Given the description of an element on the screen output the (x, y) to click on. 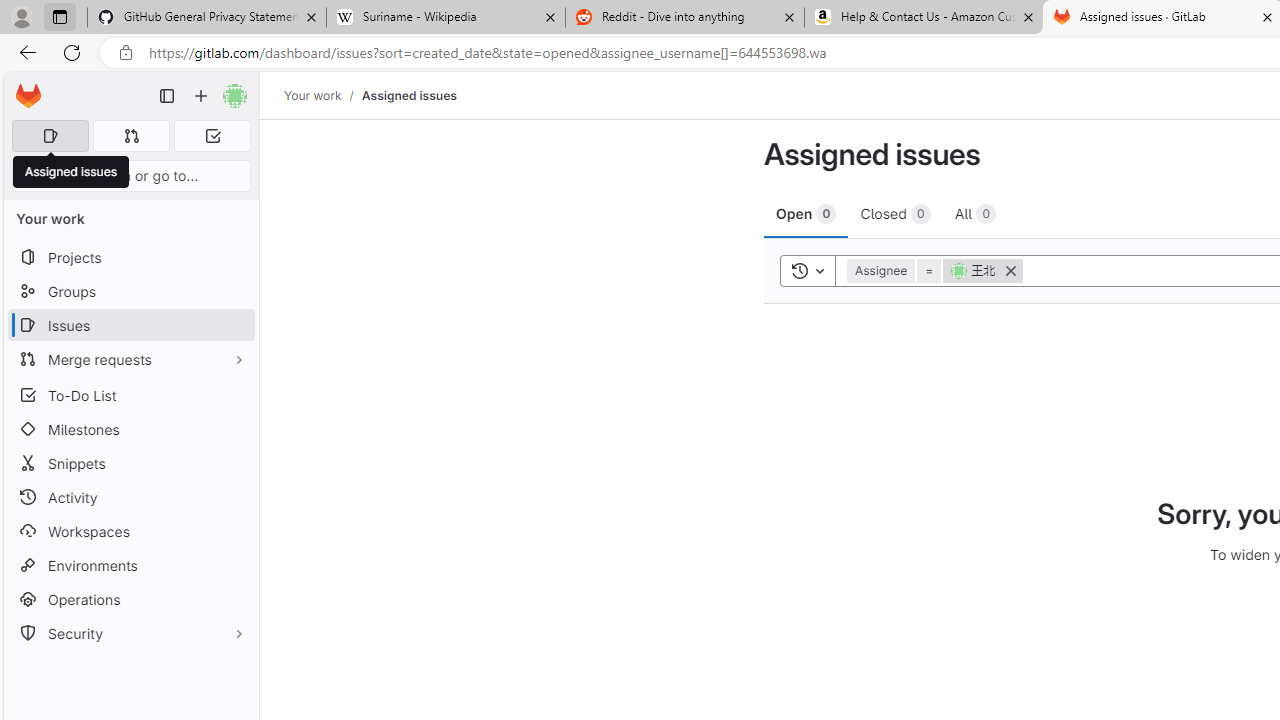
Security (130, 633)
Reddit - Dive into anything (684, 17)
Assigned issues (408, 95)
Environments (130, 564)
Groups (130, 291)
Issues (130, 325)
Skip to main content (23, 87)
Create new... (201, 96)
Operations (130, 599)
Your work/ (323, 95)
Milestones (130, 429)
Activity (130, 497)
